Given the description of an element on the screen output the (x, y) to click on. 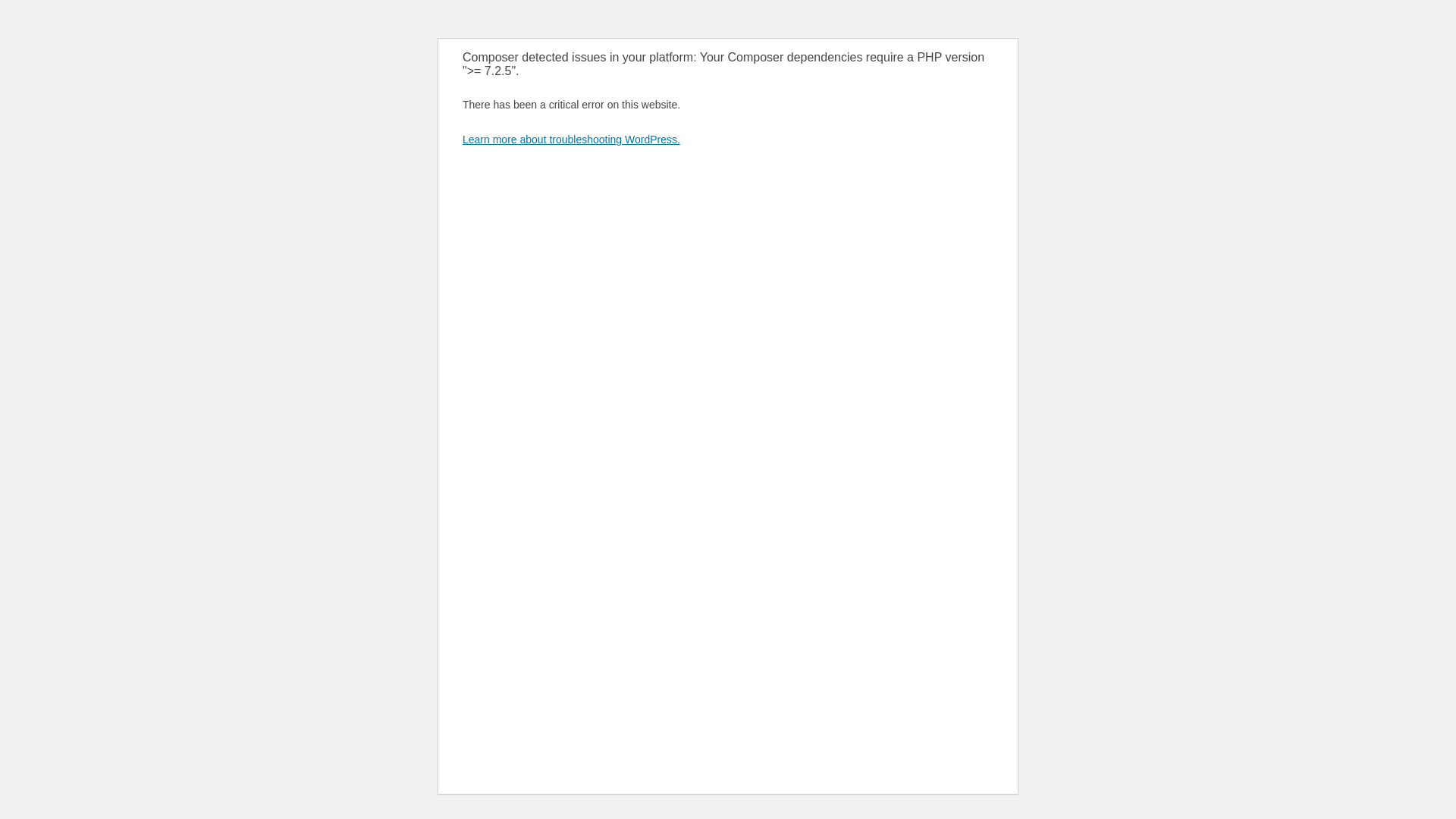
Learn more about troubleshooting WordPress. Element type: text (571, 139)
